Given the description of an element on the screen output the (x, y) to click on. 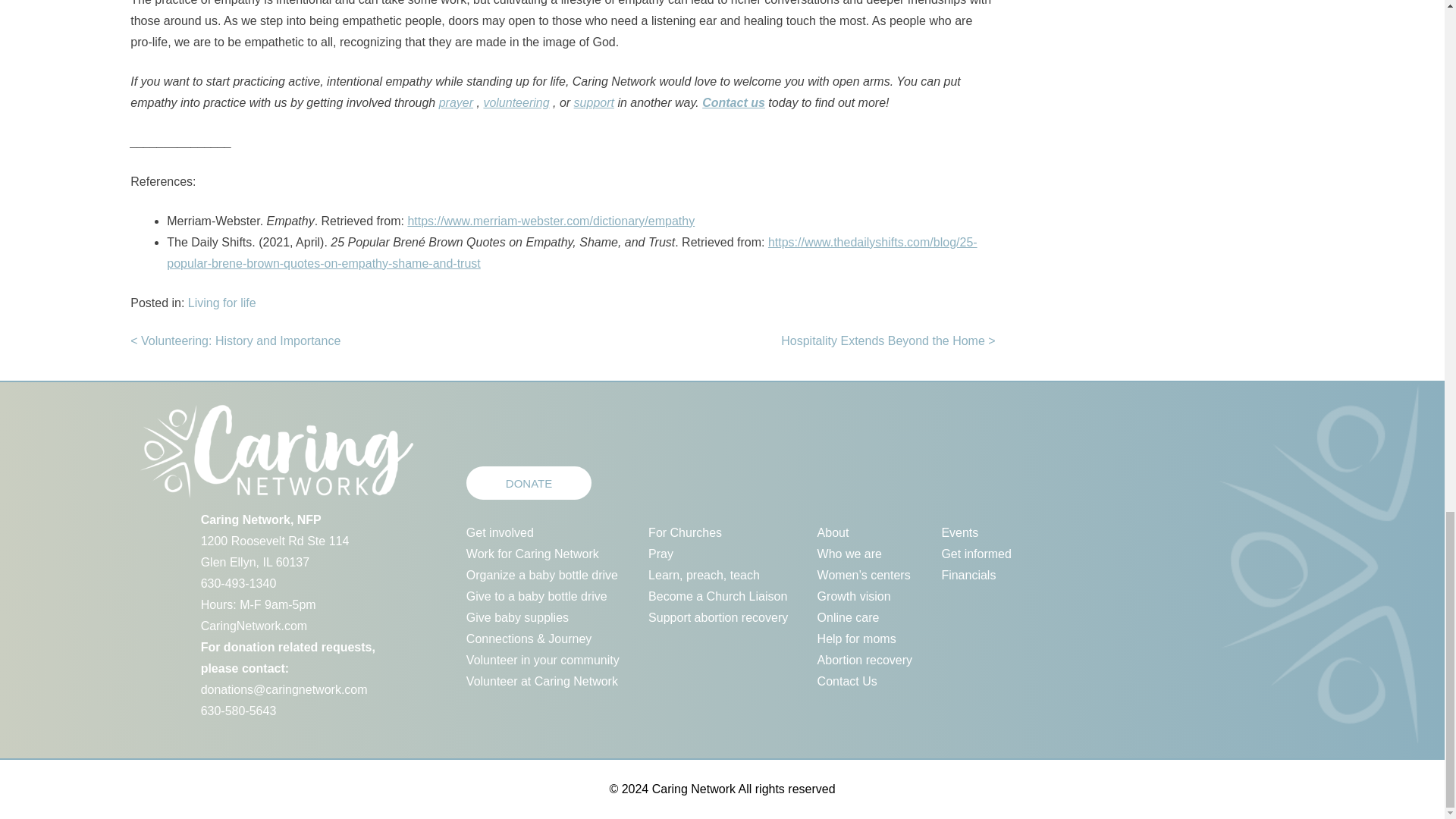
prayer (456, 102)
support (593, 102)
volunteering (515, 102)
Contact us (733, 102)
